Given the description of an element on the screen output the (x, y) to click on. 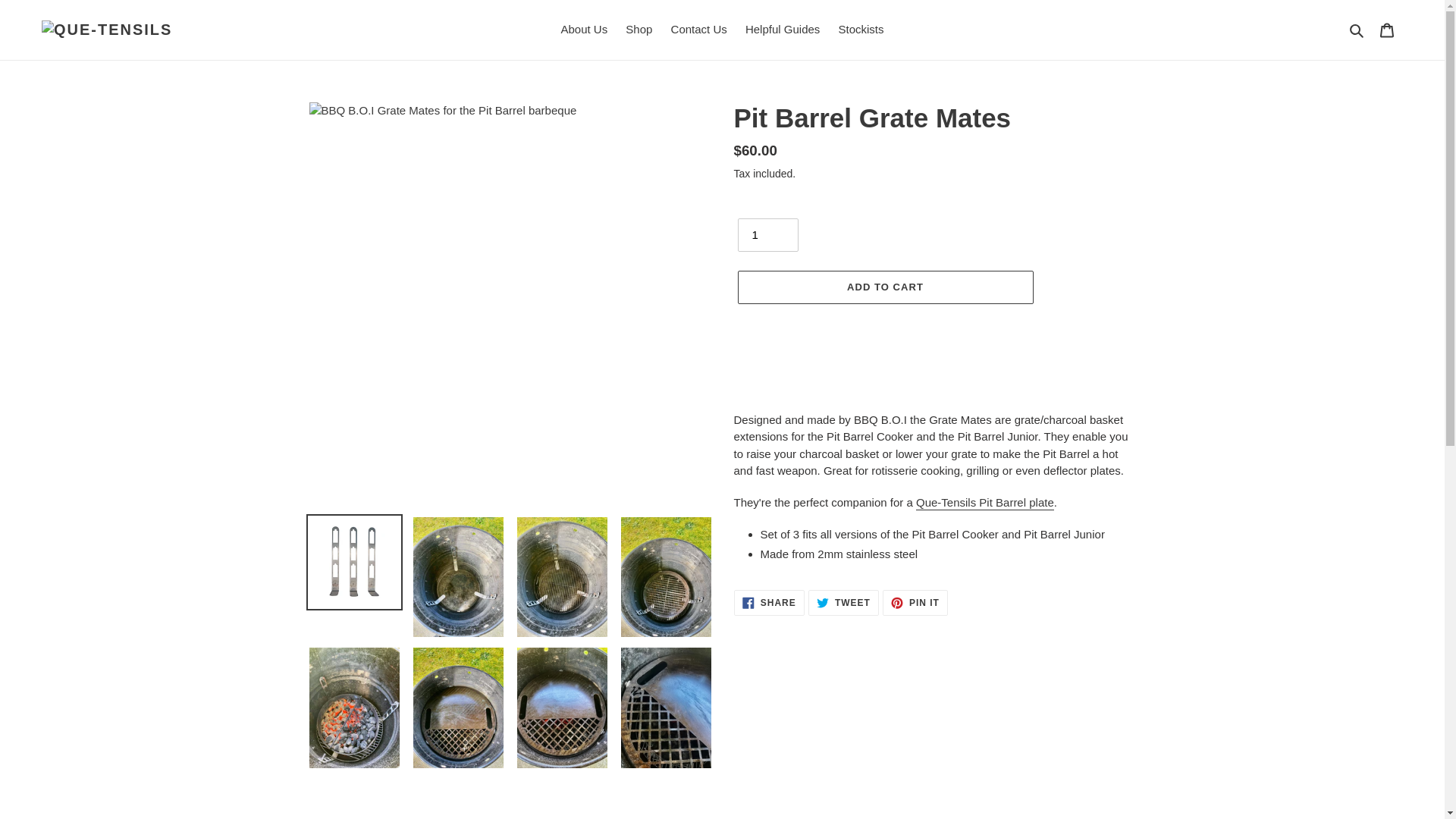
Que-Tensils Pit Barrel plate (984, 503)
Search (1357, 29)
Helpful Guides (782, 29)
Shop (638, 29)
Cart (1387, 29)
ADD TO CART (843, 602)
Que-Tensils Pit Barrel Plate (884, 287)
1 (914, 602)
